Given the description of an element on the screen output the (x, y) to click on. 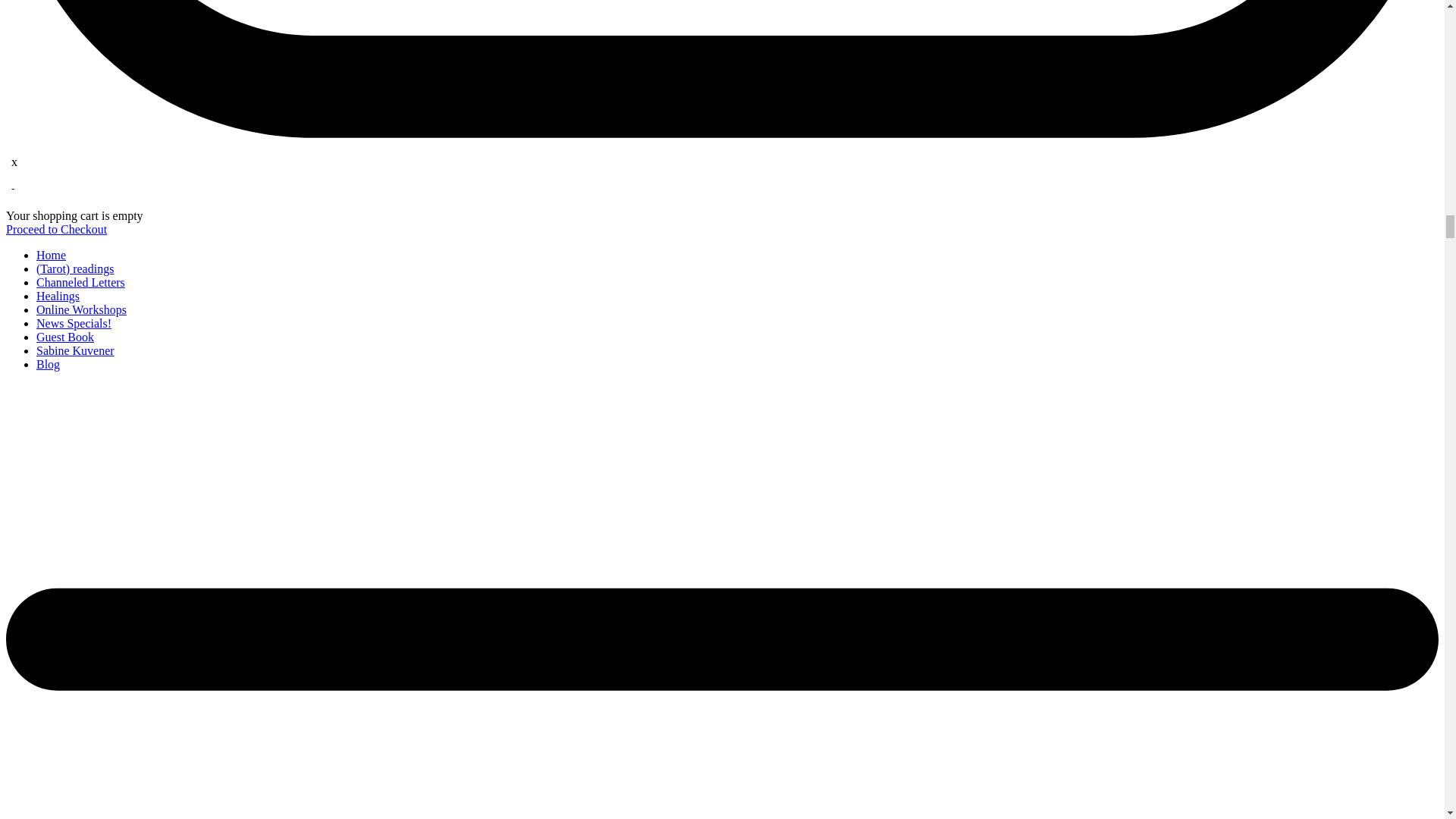
Healings (58, 295)
Home (50, 254)
Proceed to Checkout (55, 228)
Channeled Letters (80, 282)
Online Workshops (81, 309)
News Specials! (74, 323)
